Given the description of an element on the screen output the (x, y) to click on. 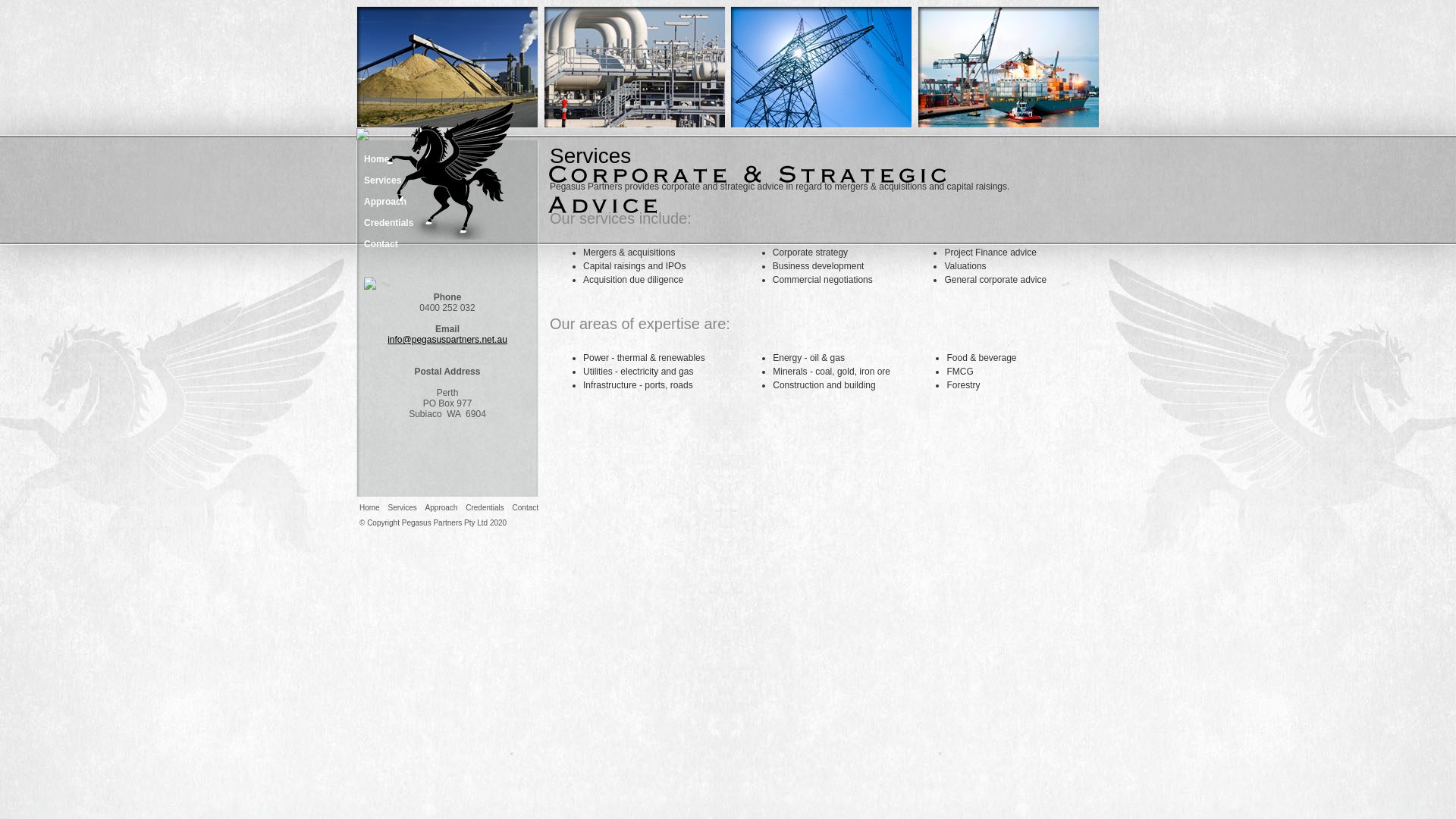
Credentials Element type: text (484, 508)
Approach Element type: text (447, 201)
Approach Element type: text (441, 508)
Home Element type: text (447, 158)
Services Element type: text (401, 508)
Services Element type: text (447, 180)
info@pegasuspartners.net.au Element type: text (447, 339)
Contact Element type: text (447, 243)
Credentials Element type: text (447, 222)
Home Element type: text (369, 508)
Contact Element type: text (525, 508)
